Given the description of an element on the screen output the (x, y) to click on. 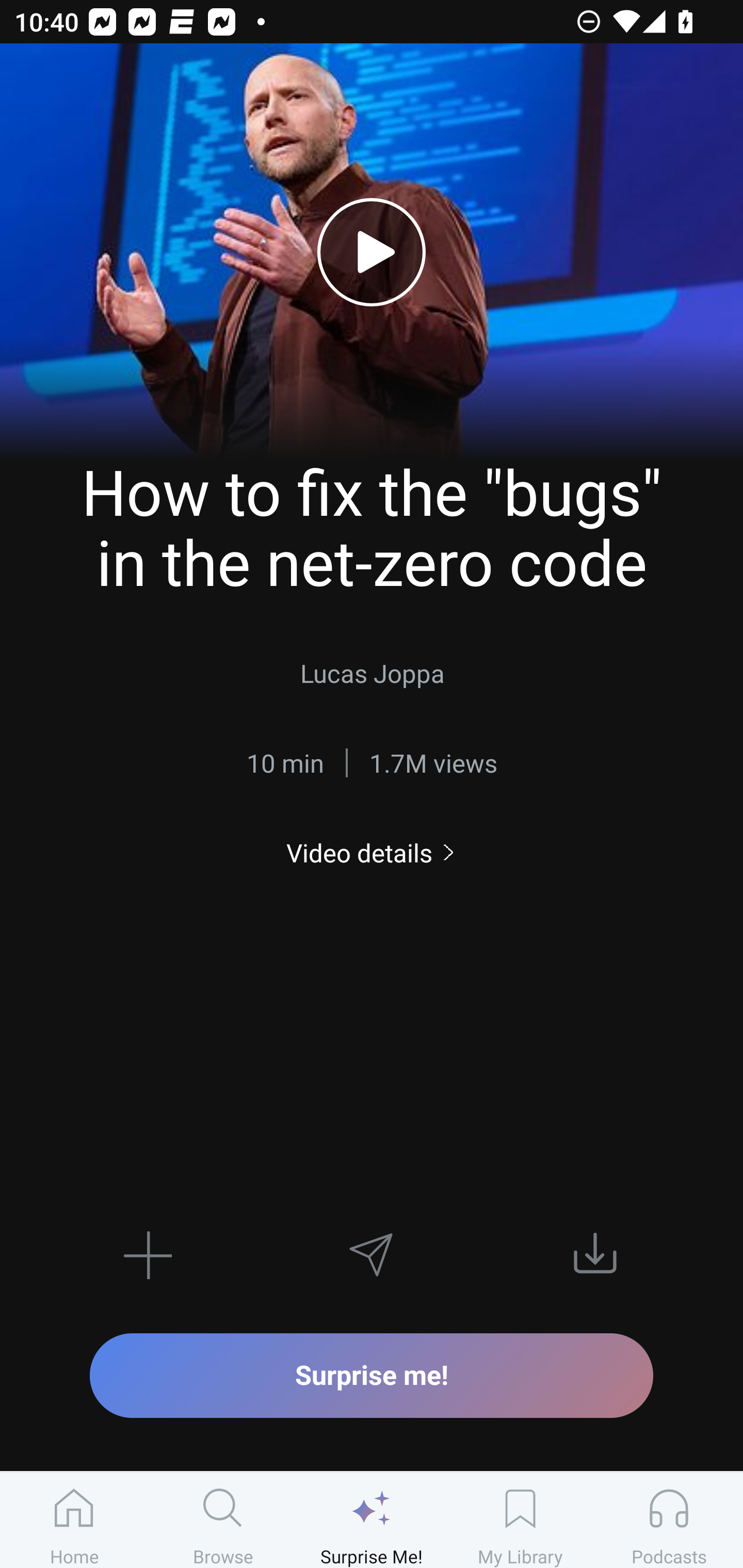
Video details (371, 852)
Surprise me! (371, 1374)
Home (74, 1520)
Browse (222, 1520)
Surprise Me! (371, 1520)
My Library (519, 1520)
Podcasts (668, 1520)
